Given the description of an element on the screen output the (x, y) to click on. 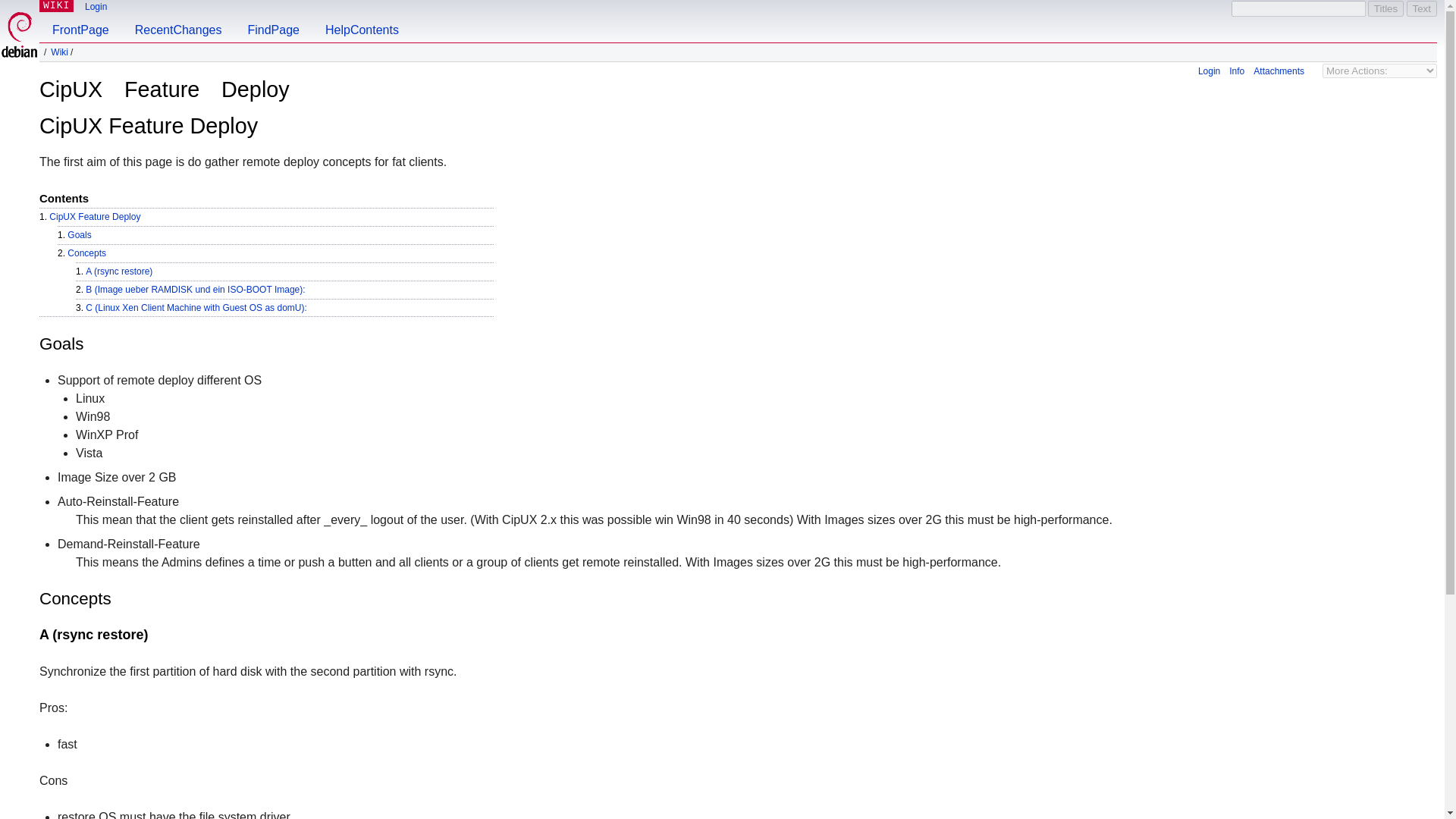
Feature (161, 88)
Concepts (86, 253)
Titles (1385, 8)
HelpContents (362, 21)
Debian Wiki Homepage (59, 51)
CipUX Feature Deploy (94, 216)
FrontPage (80, 21)
Titles (1385, 8)
Login (1209, 71)
RecentChanges (178, 21)
Debian Wiki Homepage (56, 5)
WIKI (56, 5)
Attachments (1278, 71)
Login (95, 6)
Info (1236, 71)
